Given the description of an element on the screen output the (x, y) to click on. 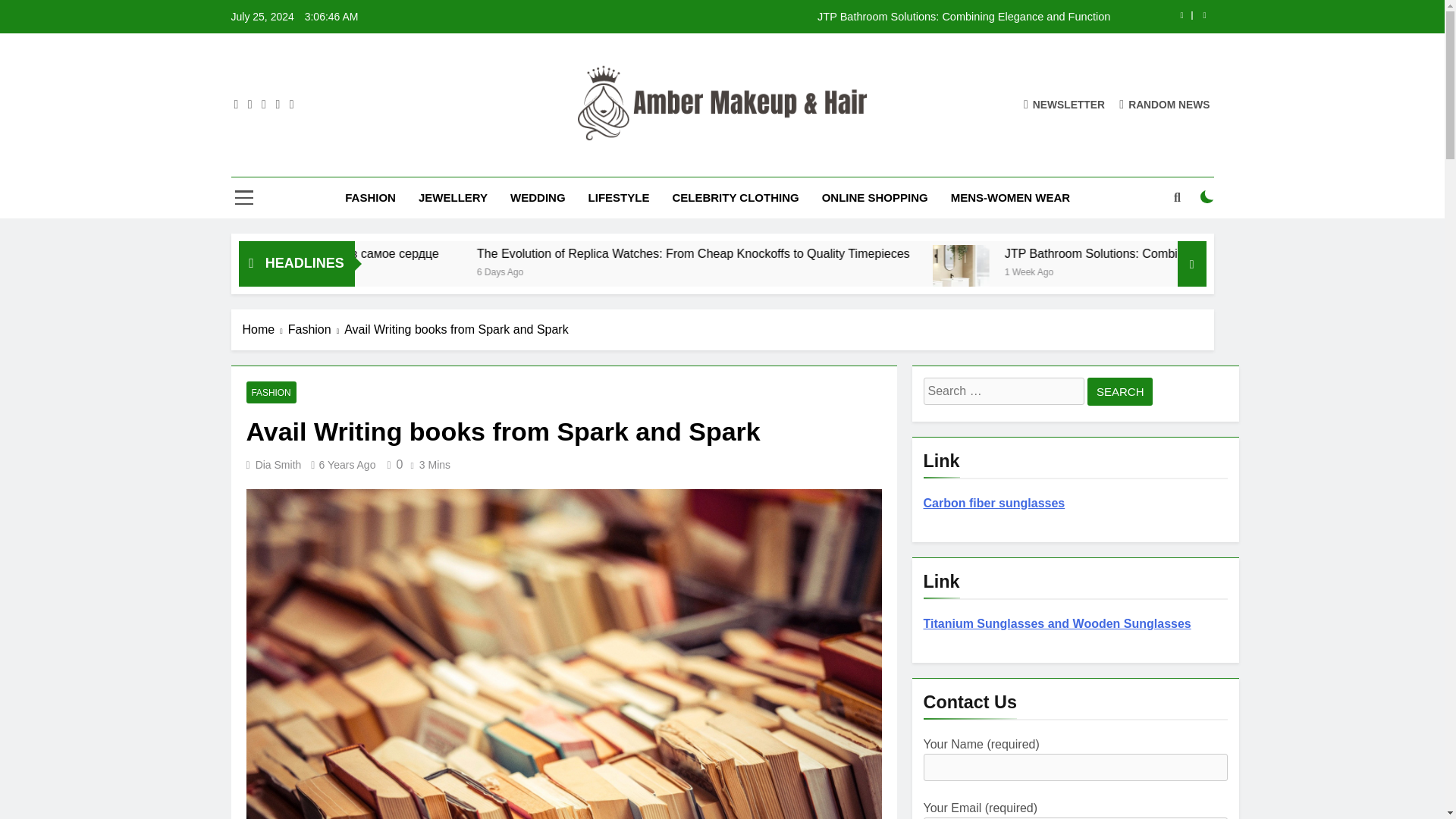
on (1206, 196)
JTP Bathroom Solutions: Combining Elegance and Function (817, 16)
WEDDING (537, 197)
RANDOM NEWS (1164, 103)
JTP Bathroom Solutions: Combining Elegance and Function (817, 16)
JTP Bathroom Solutions: Combining Elegance and Function (1128, 273)
NEWSLETTER (1064, 103)
FASHION (370, 197)
Amber Makeup And Hair (669, 162)
JEWELLERY (453, 197)
Search (1120, 391)
ONLINE SHOPPING (874, 197)
MENS-WOMEN WEAR (1010, 197)
CELEBRITY CLOTHING (735, 197)
